Given the description of an element on the screen output the (x, y) to click on. 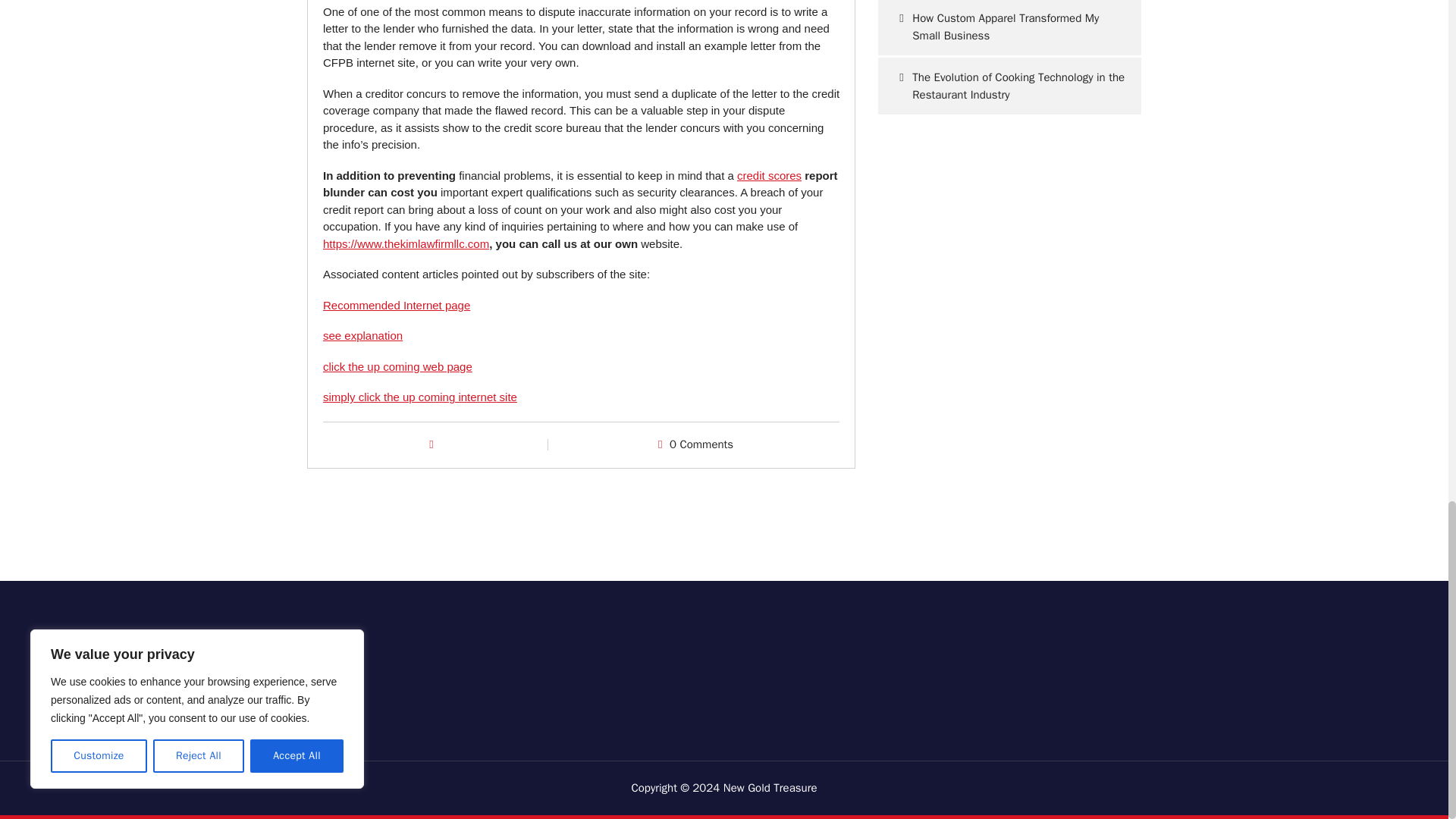
Recommended Internet page (396, 305)
credit scores (769, 174)
simply click the up coming internet site (419, 396)
see explanation (363, 335)
click the up coming web page (397, 366)
